Given the description of an element on the screen output the (x, y) to click on. 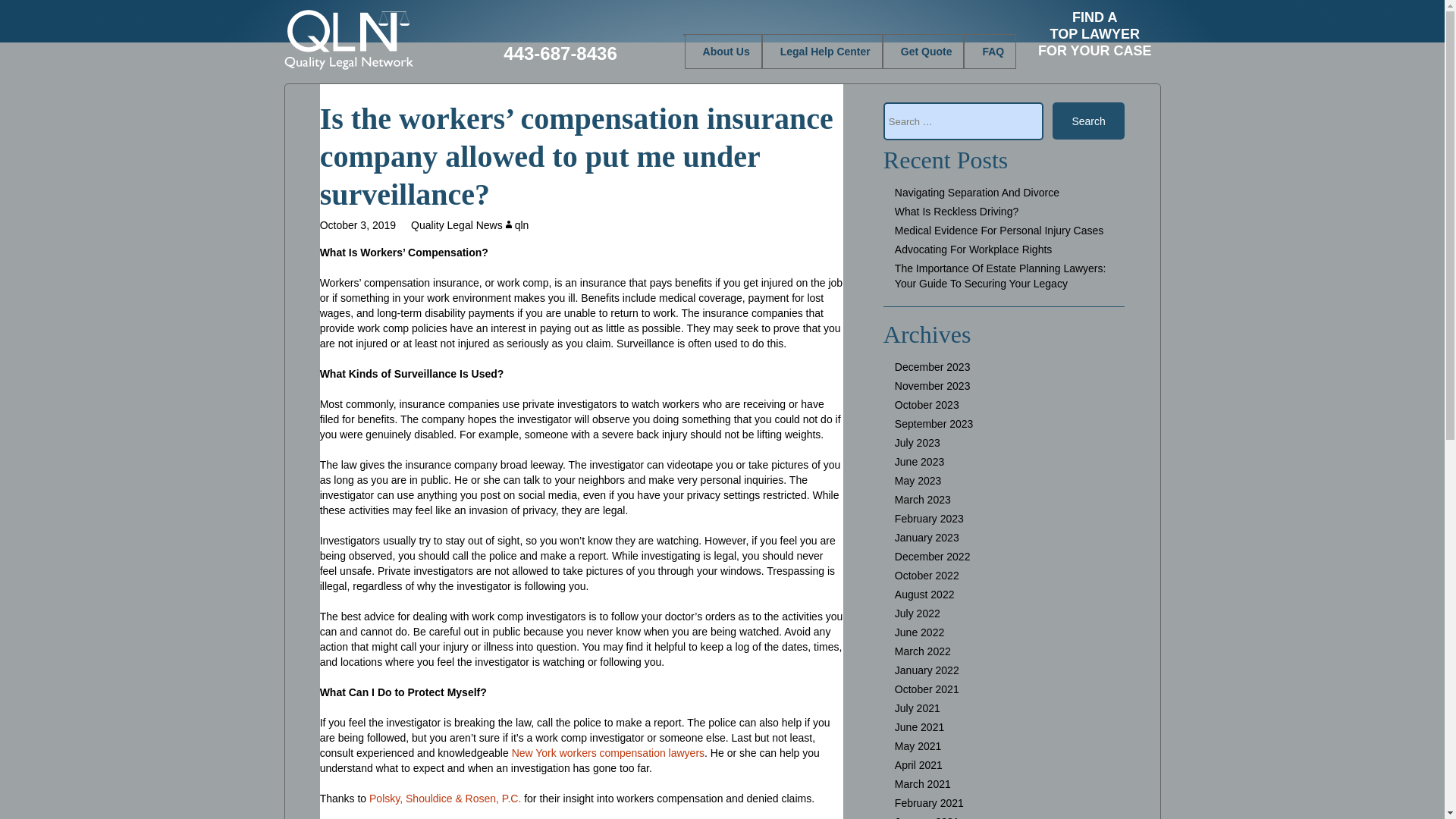
Legal Help Center (822, 51)
View all posts by qln (515, 224)
FAQ (1094, 29)
qln (988, 51)
October 3, 2019 (515, 224)
About Us (358, 224)
Search (723, 51)
Search (1088, 120)
New York workers compensation lawyers (1088, 120)
